Given the description of an element on the screen output the (x, y) to click on. 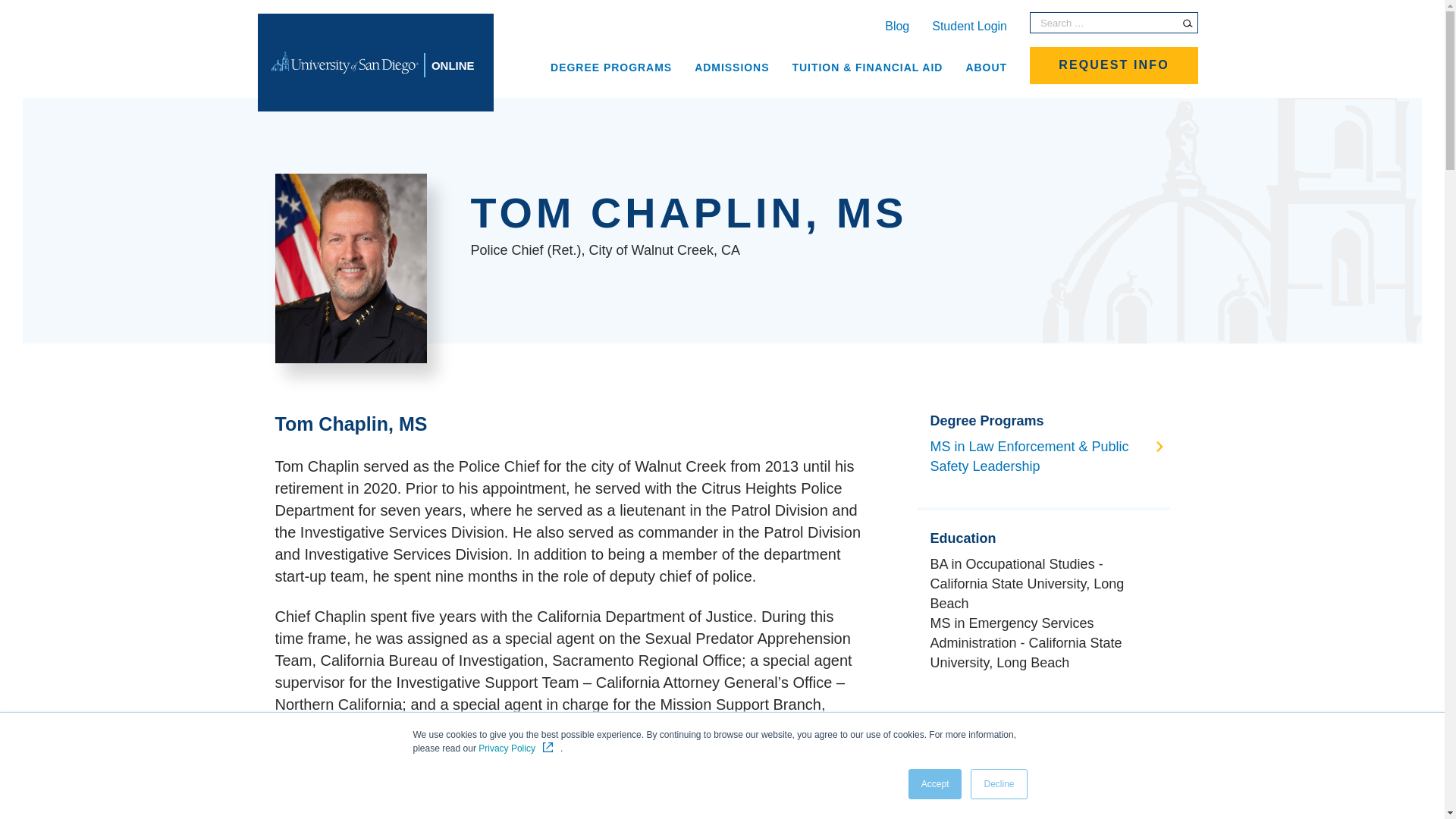
Accept (935, 784)
Home (375, 62)
Search (1186, 22)
Search (1186, 22)
DEGREE PROGRAMS (611, 66)
Decline (998, 784)
Privacy Policy (519, 747)
